Given the description of an element on the screen output the (x, y) to click on. 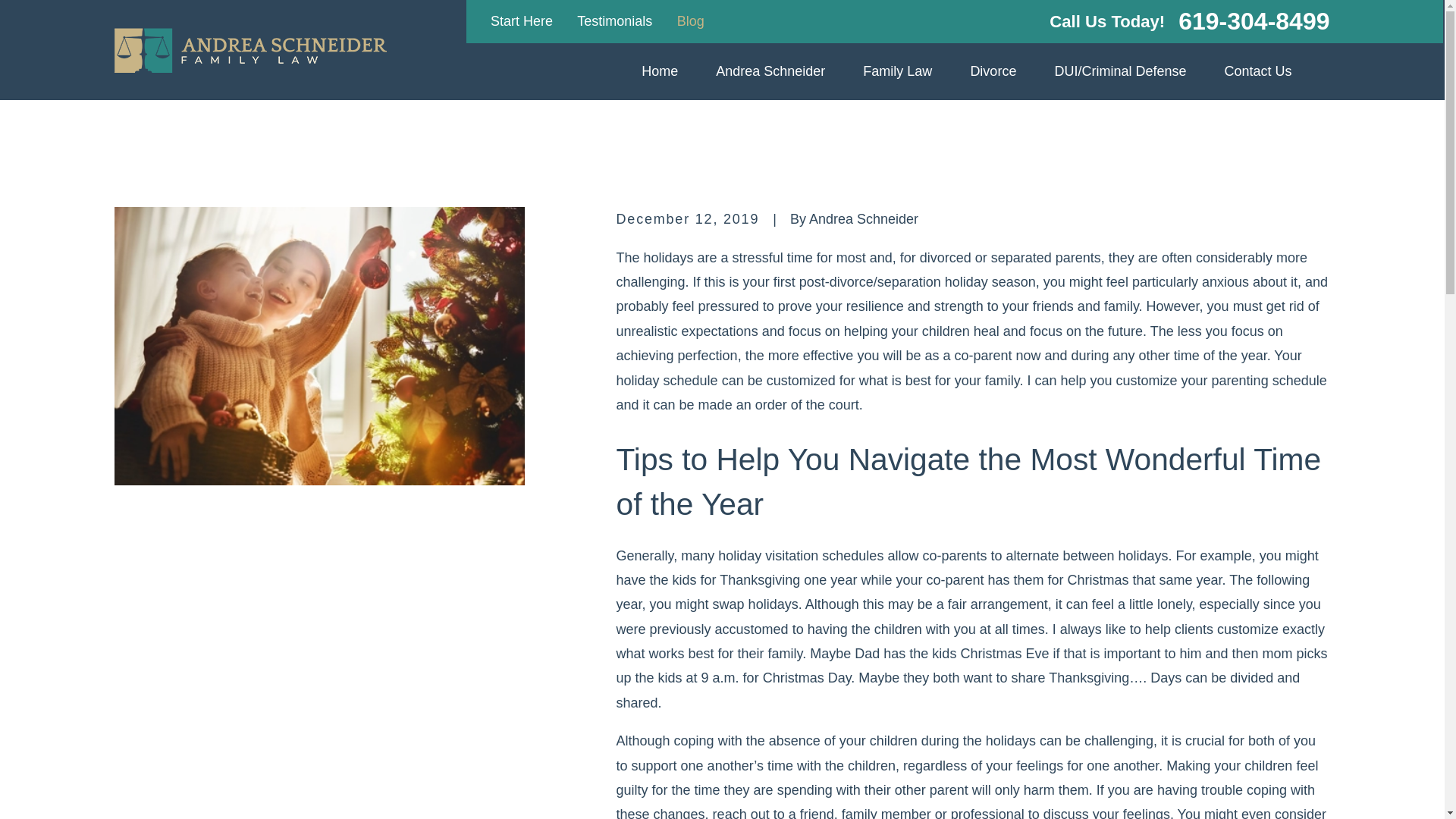
619-304-8499 (1253, 21)
Testimonials (614, 20)
Home (251, 49)
Family Law (897, 71)
Home (660, 71)
Blog (690, 20)
Andrea Schneider (770, 71)
Divorce (992, 71)
Start Here (521, 20)
